Given the description of an element on the screen output the (x, y) to click on. 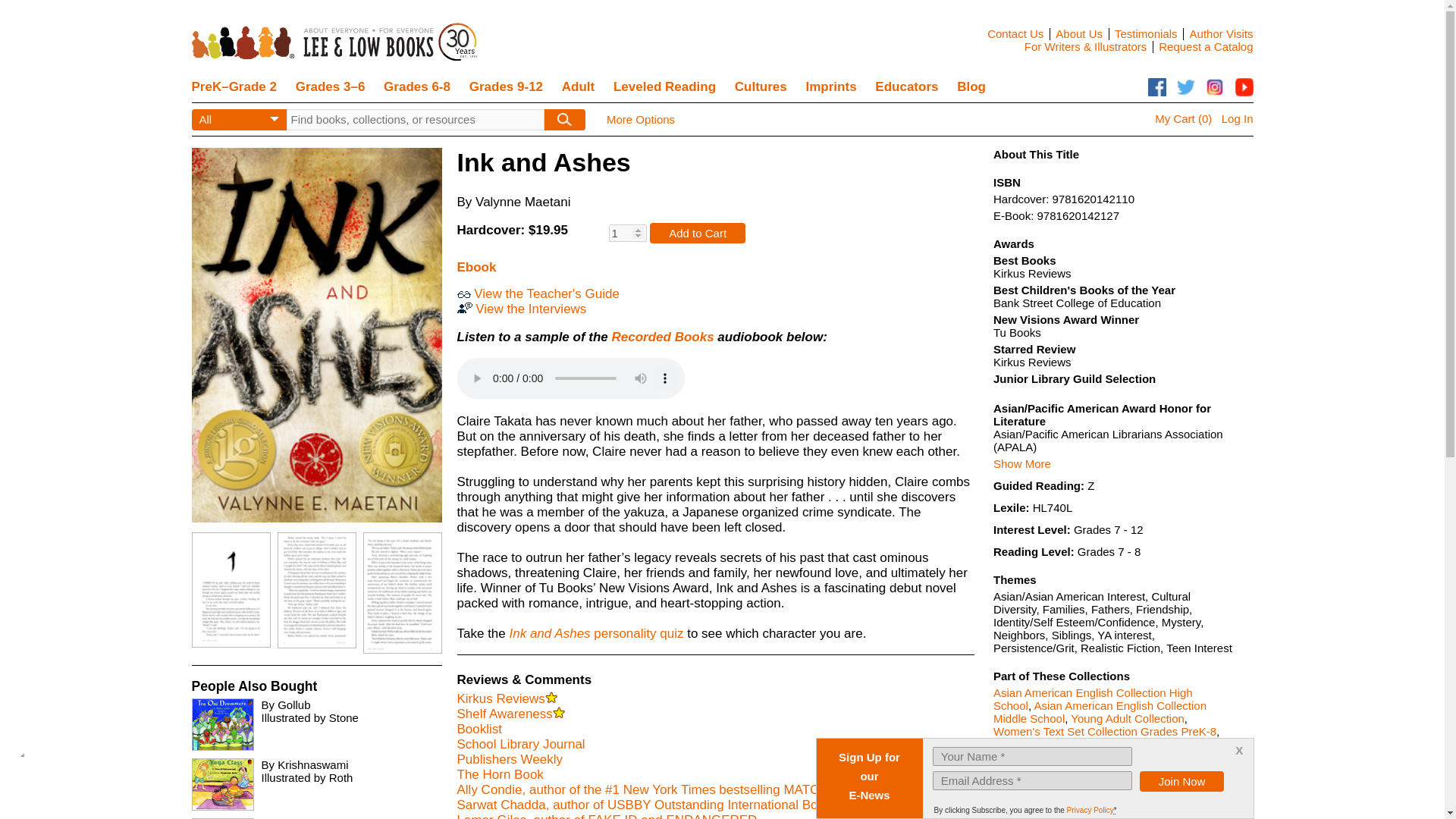
Accessibility Menu (43, 776)
Author Visits (1221, 33)
Where Imagination and Real Life Collide (1111, 784)
About Us (1078, 33)
Grades 6-8 (416, 87)
Join Now (1182, 781)
Testimonials (1146, 33)
Request a Catalog (1205, 46)
Close (1238, 750)
1 (627, 232)
Accessibility Menu (47, 780)
Contact Us (1015, 33)
Add to Cart (697, 232)
